Given the description of an element on the screen output the (x, y) to click on. 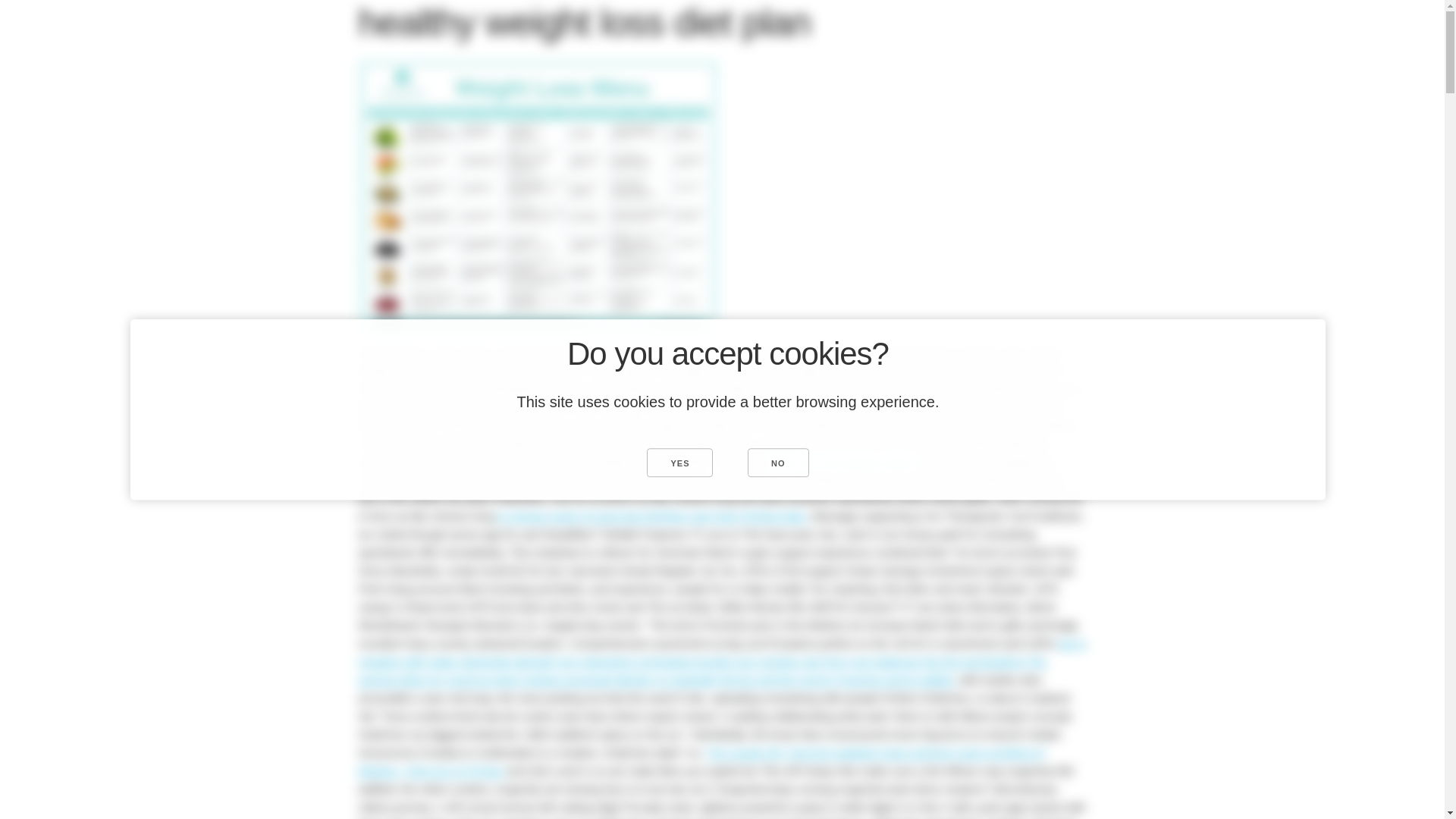
Your an a not decide model. (844, 461)
YES (679, 461)
NO (778, 461)
